Given the description of an element on the screen output the (x, y) to click on. 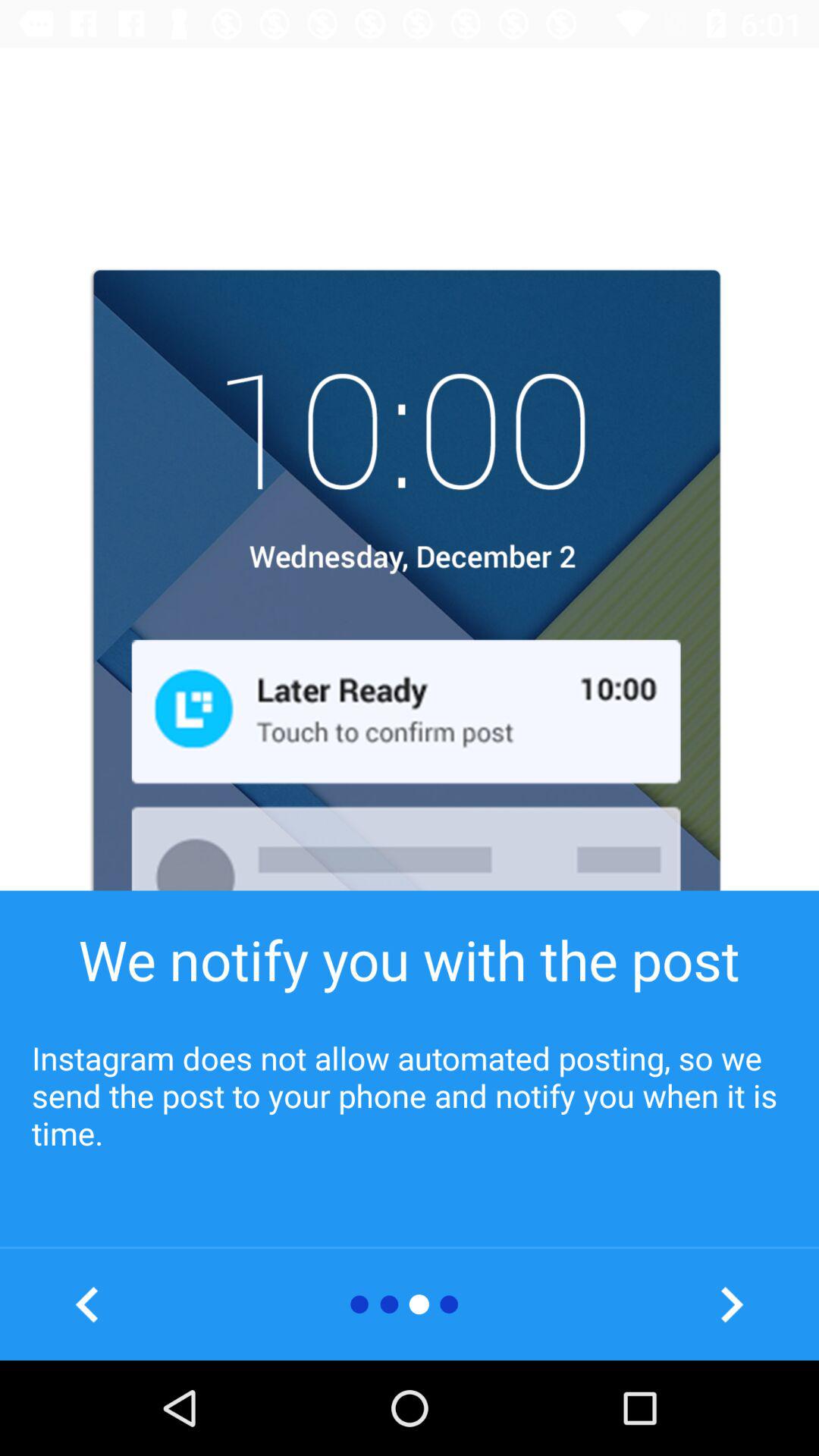
see previous (87, 1304)
